Given the description of an element on the screen output the (x, y) to click on. 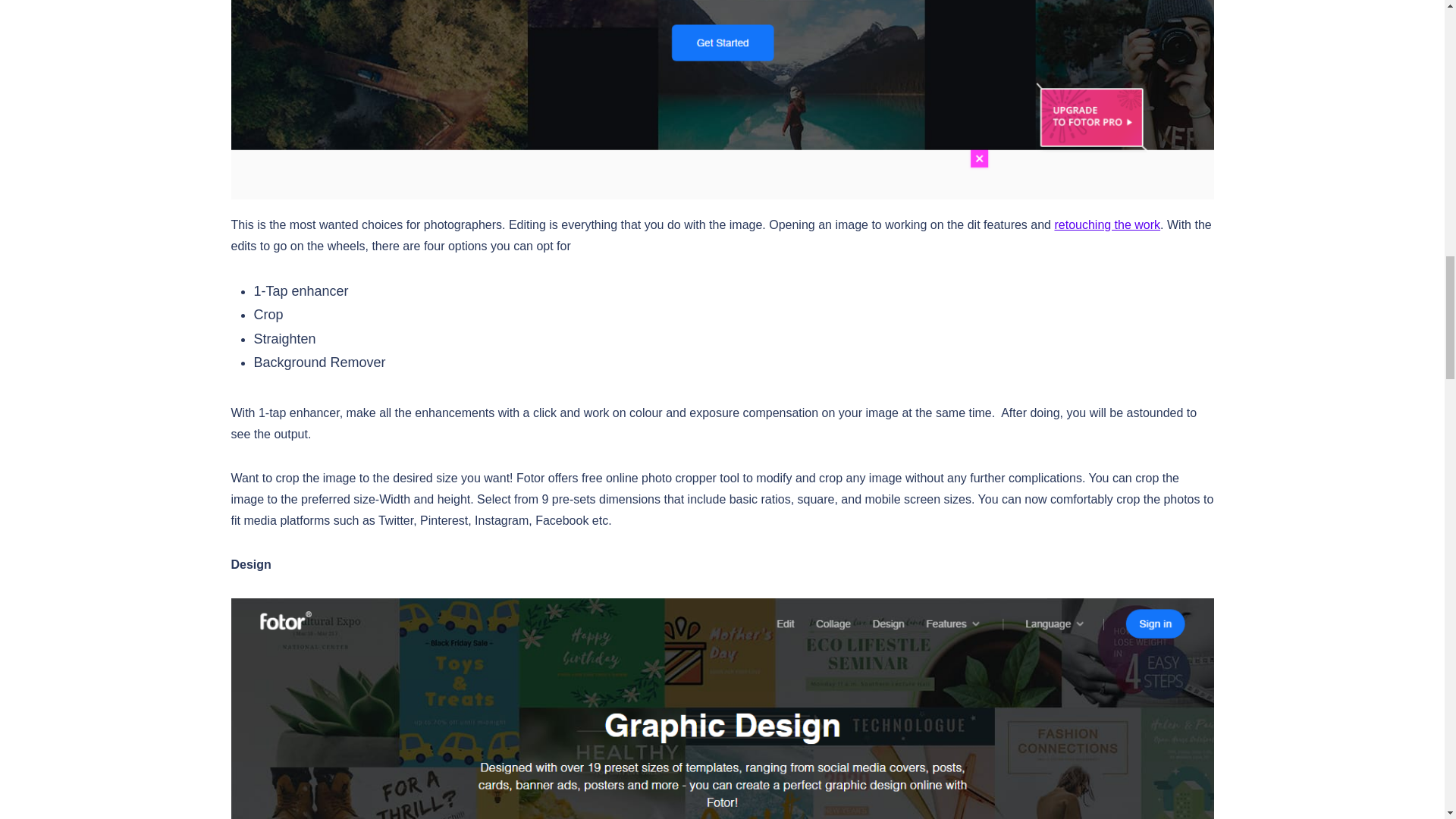
retouching the work (1107, 224)
